Given the description of an element on the screen output the (x, y) to click on. 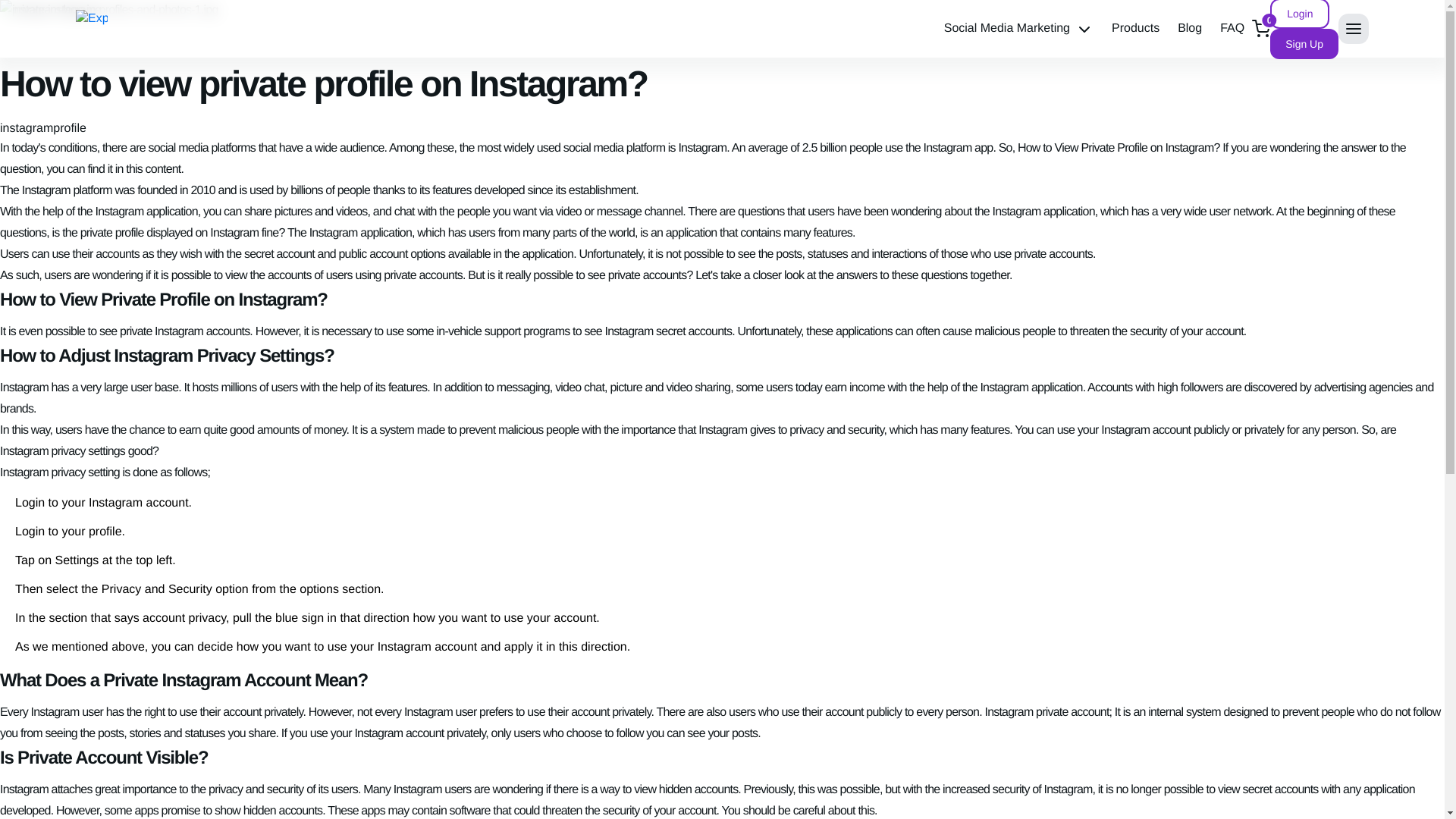
Sign Up (1303, 43)
Products (1135, 28)
0 (1260, 28)
Login (1299, 14)
FAQ (1232, 28)
Blog (1189, 28)
Expensivethanfree Logo (91, 25)
Social Media Marketing (1018, 28)
